Given the description of an element on the screen output the (x, y) to click on. 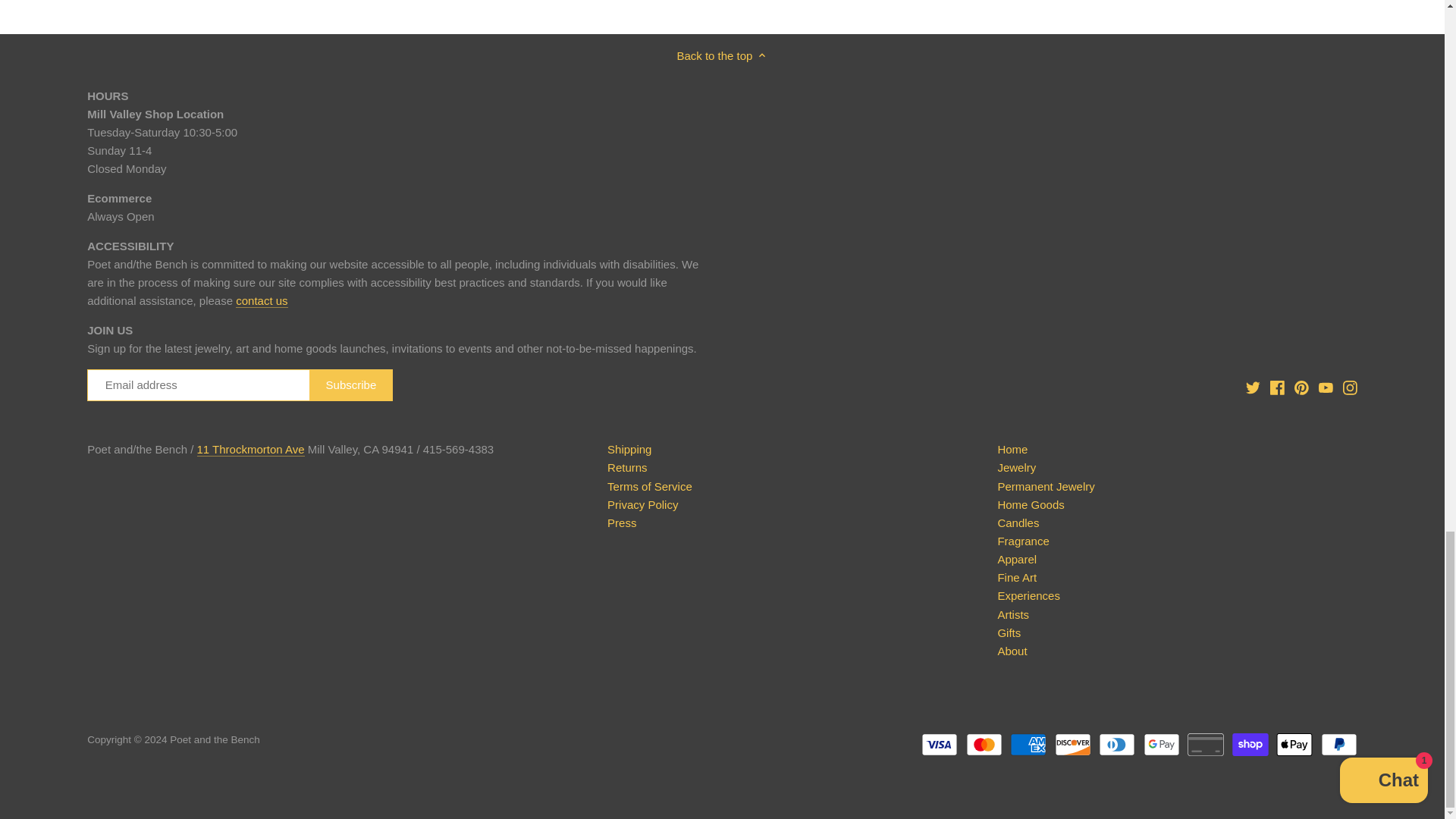
Facebook (1276, 386)
Pinterest (1301, 386)
Twitter (1253, 386)
Subscribe (350, 385)
Instagram (1349, 386)
Twitter (1252, 387)
Youtube (1326, 386)
